Given the description of an element on the screen output the (x, y) to click on. 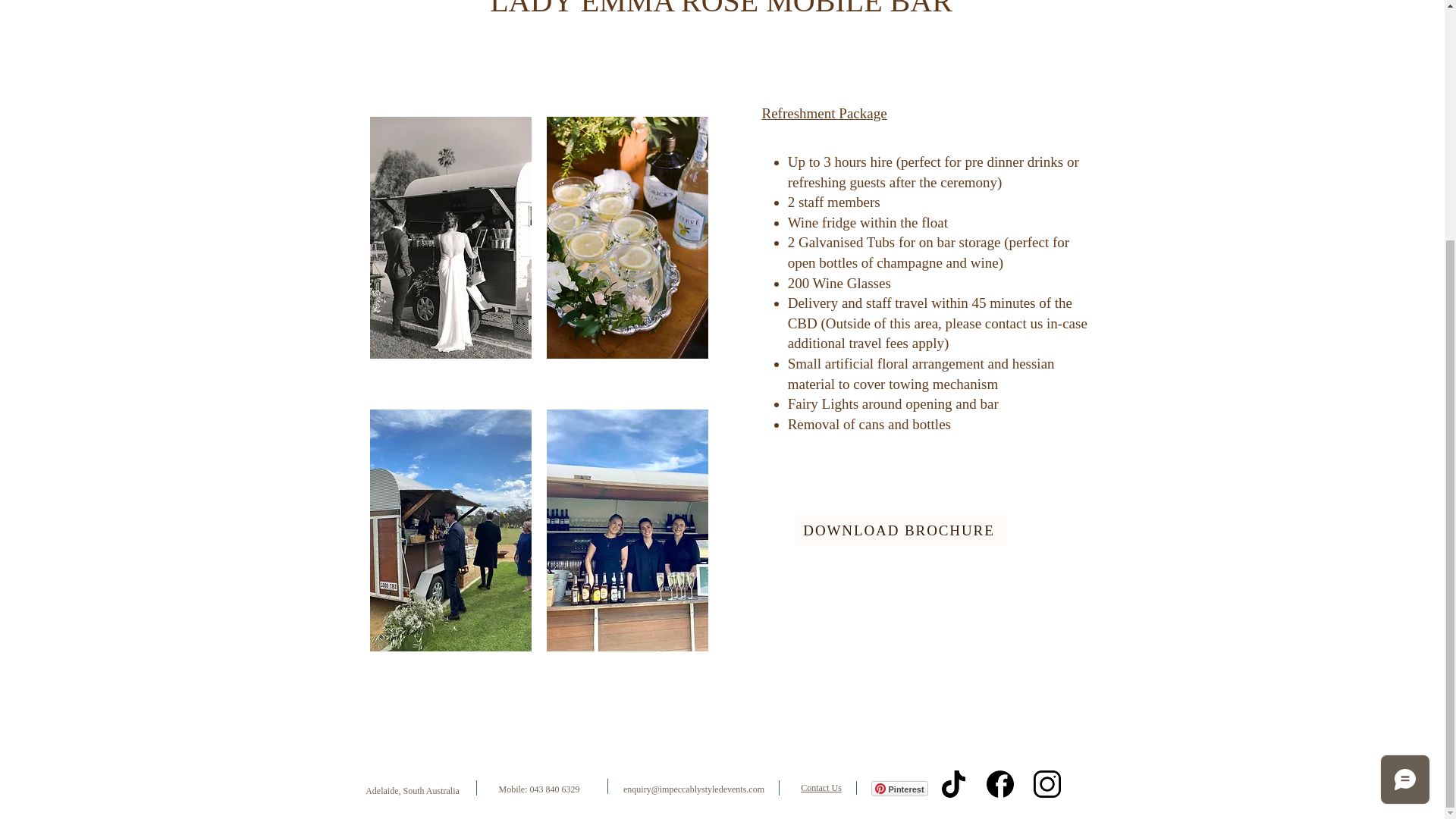
Pinterest (898, 788)
Pinterest (898, 788)
Contact Us (820, 787)
DOWNLOAD BROCHURE (900, 530)
